Given the description of an element on the screen output the (x, y) to click on. 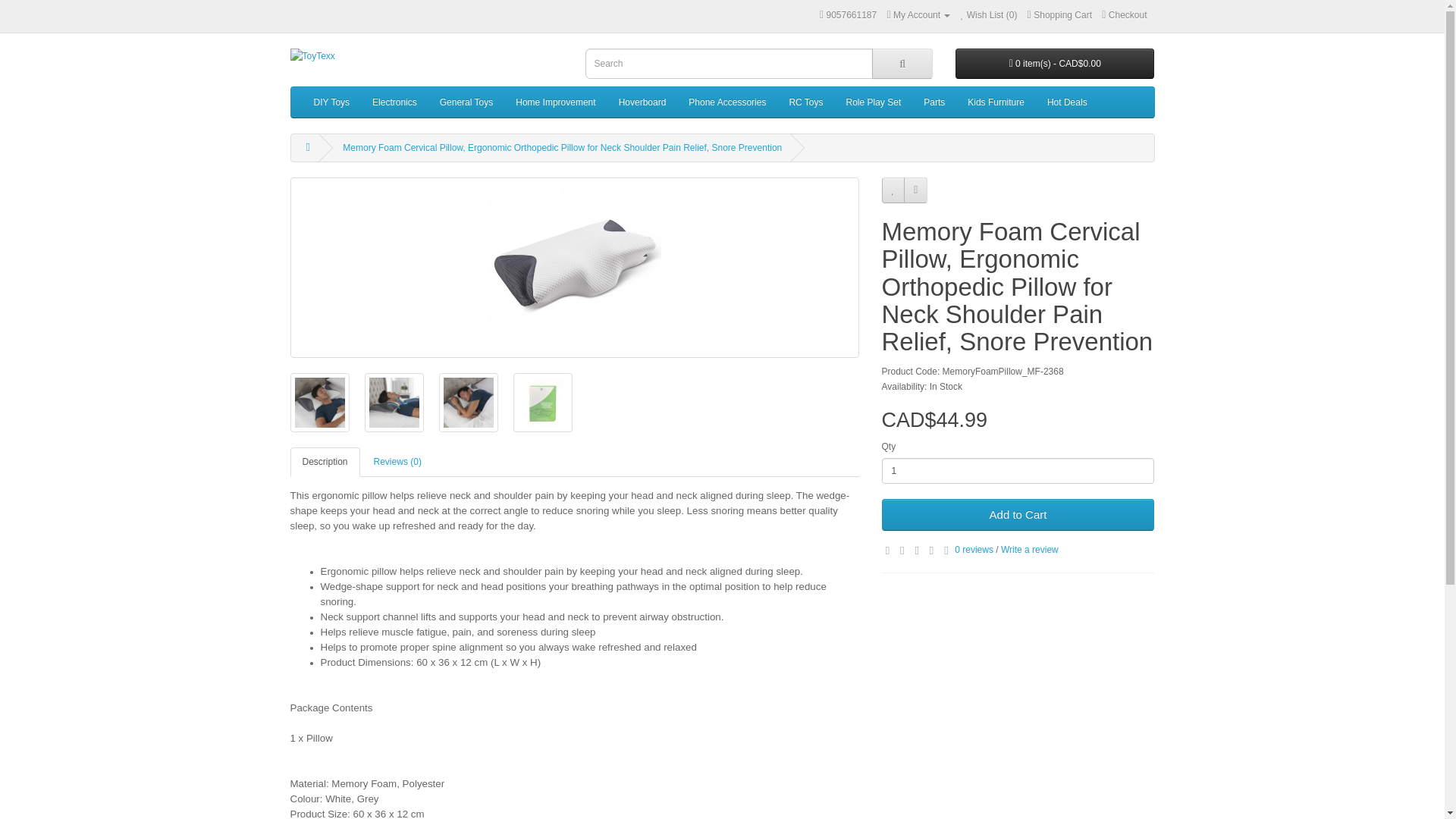
General Toys (465, 101)
DIY Toys (331, 101)
My Account (918, 14)
Shopping Cart (1059, 14)
ToyTexx (425, 55)
1 (1017, 470)
